Given the description of an element on the screen output the (x, y) to click on. 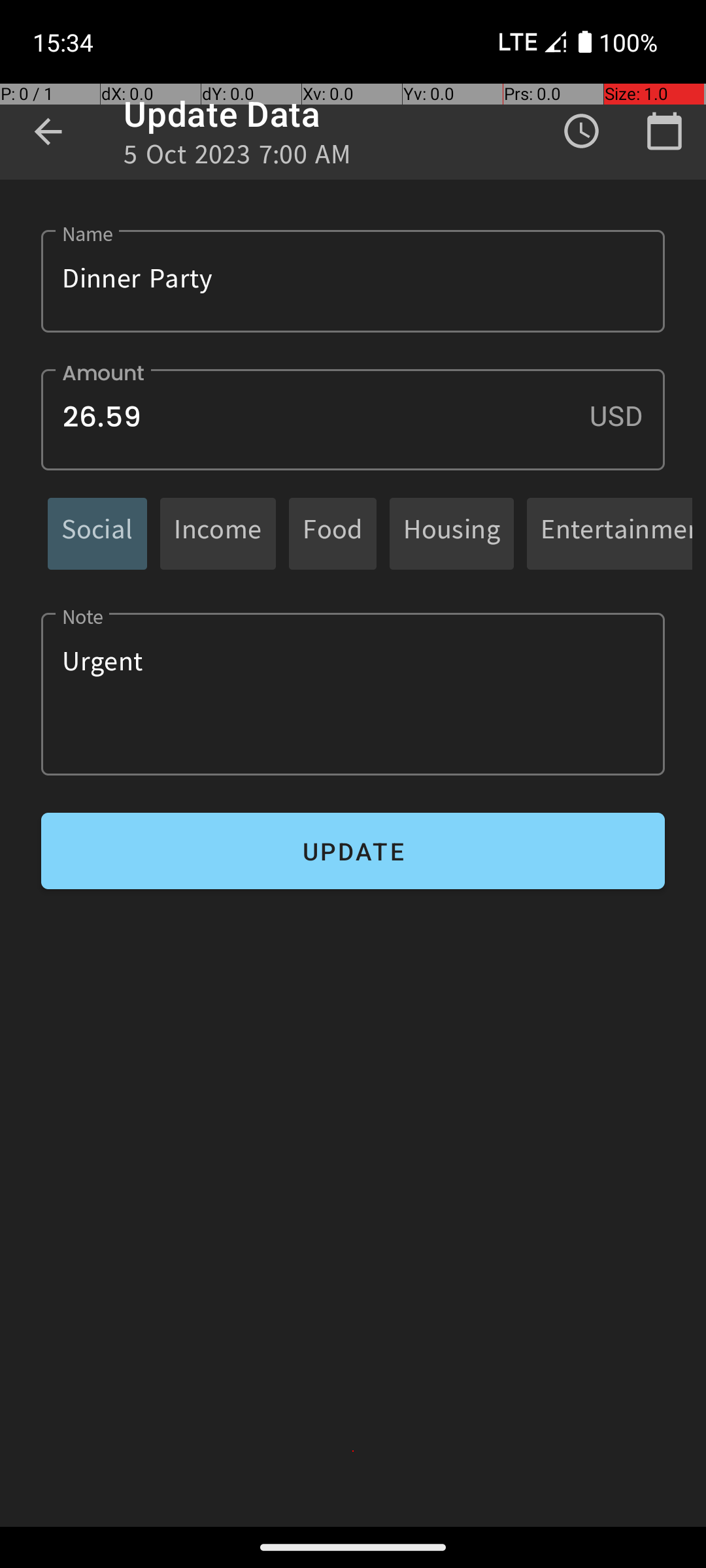
5 Oct 2023 7:00 AM Element type: android.widget.TextView (237, 157)
Dinner Party Element type: android.widget.EditText (352, 280)
26.59 Element type: android.widget.EditText (352, 419)
